Given the description of an element on the screen output the (x, y) to click on. 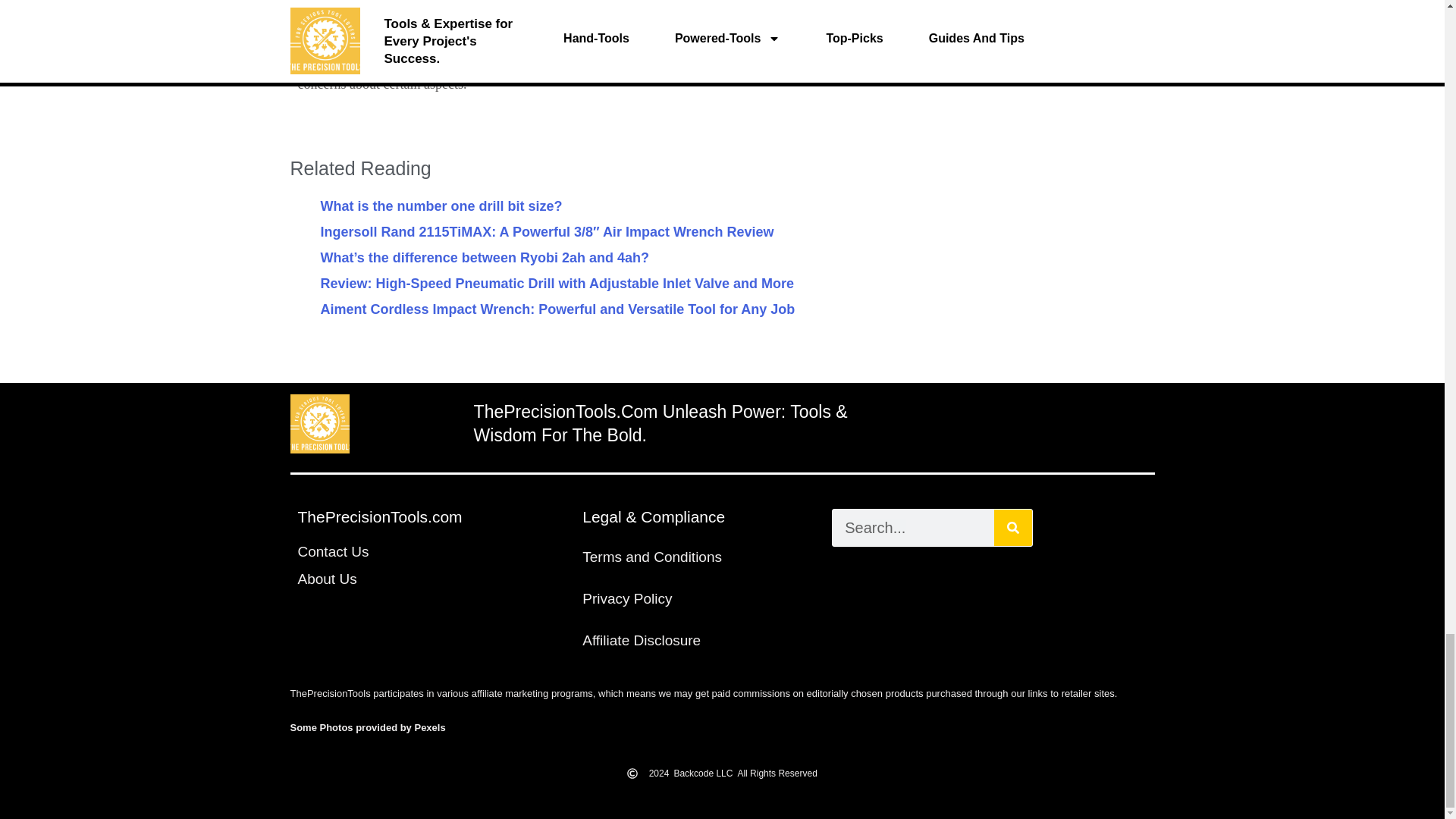
What is the number one drill bit size? (441, 206)
